Given the description of an element on the screen output the (x, y) to click on. 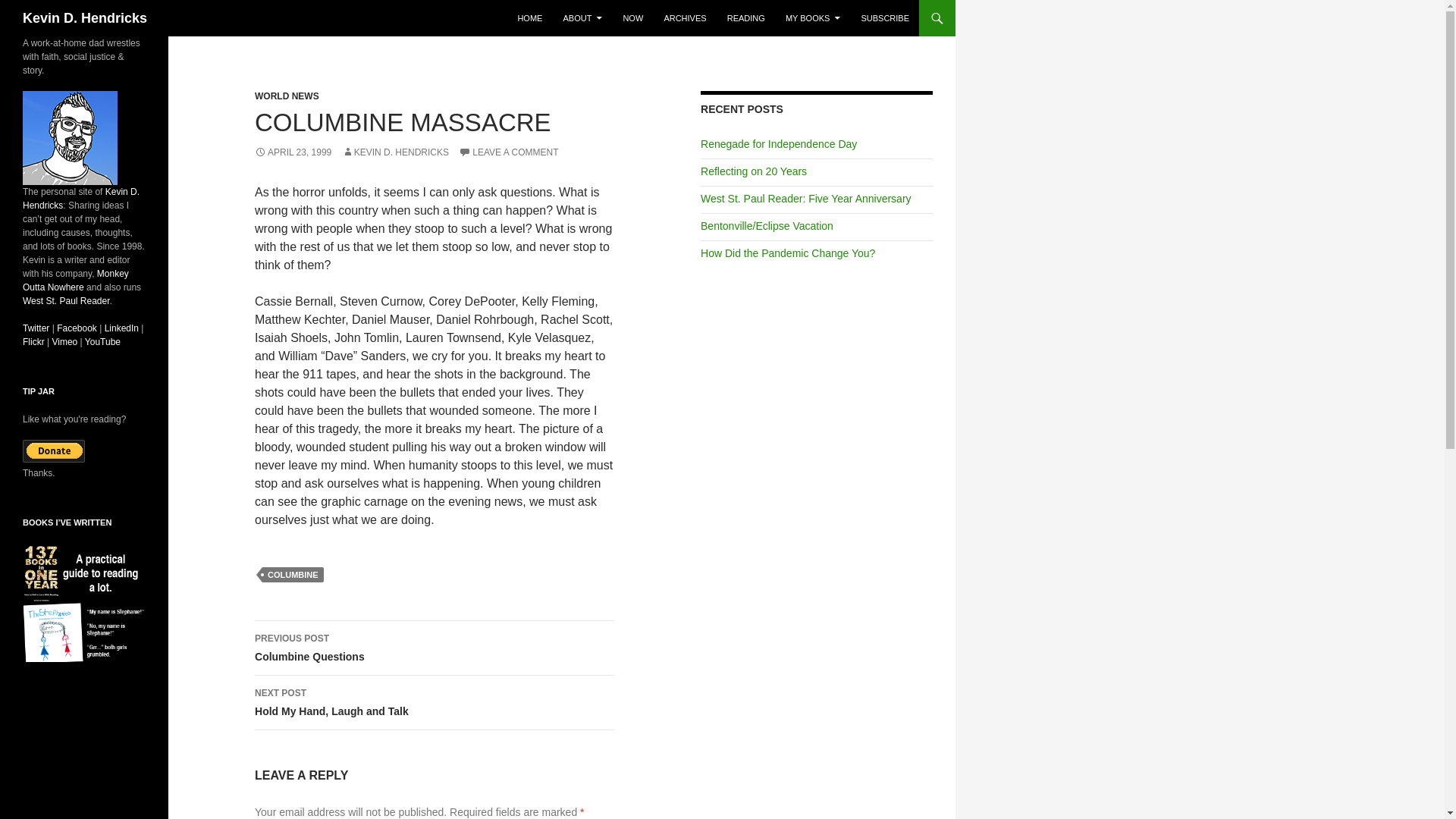
APRIL 23, 1999 (292, 152)
HOME (529, 18)
SUBSCRIBE (884, 18)
READING (745, 18)
COLUMBINE (292, 574)
NOW (632, 18)
LEAVE A COMMENT (507, 152)
Kevin D. Hendricks (85, 18)
How Did the Pandemic Change You? (787, 253)
WORLD NEWS (286, 95)
West St. Paul Reader (66, 300)
West St. Paul Reader: Five Year Anniversary (805, 198)
ARCHIVES (683, 18)
ABOUT (582, 18)
Kevin D. Hendricks (81, 198)
